Given the description of an element on the screen output the (x, y) to click on. 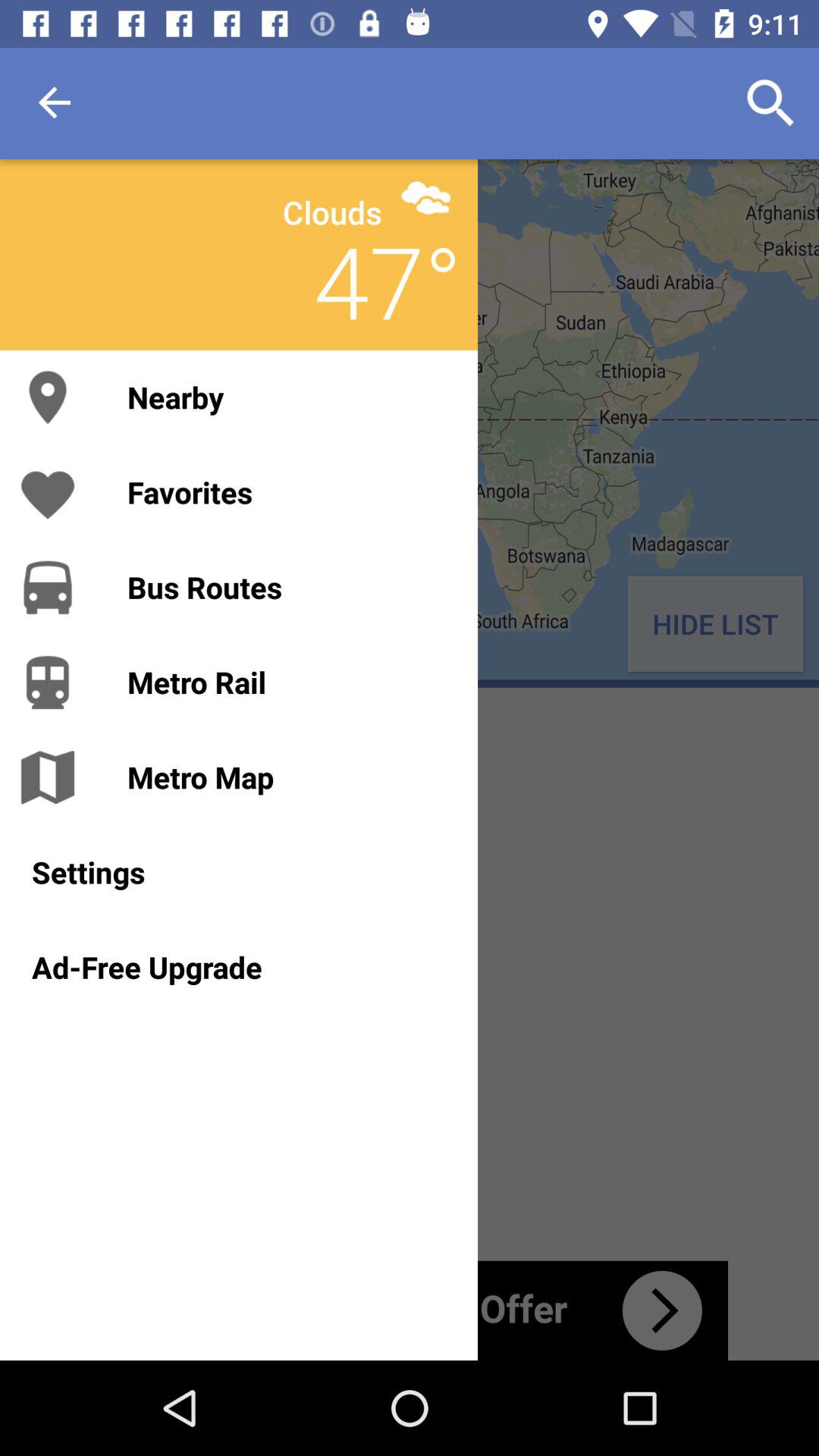
launch the item next to hide list (286, 682)
